Given the description of an element on the screen output the (x, y) to click on. 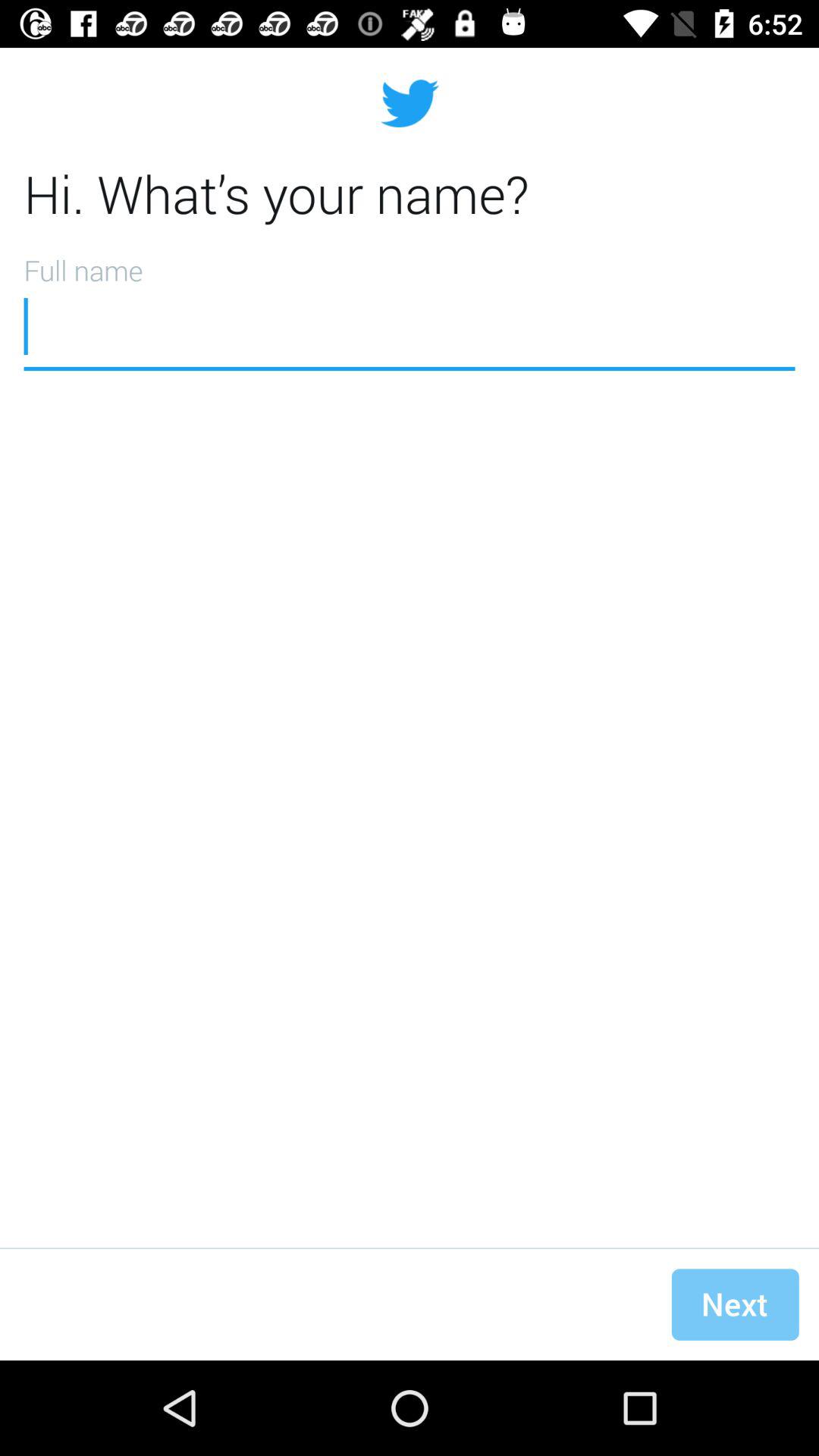
turn on the next icon (735, 1304)
